Given the description of an element on the screen output the (x, y) to click on. 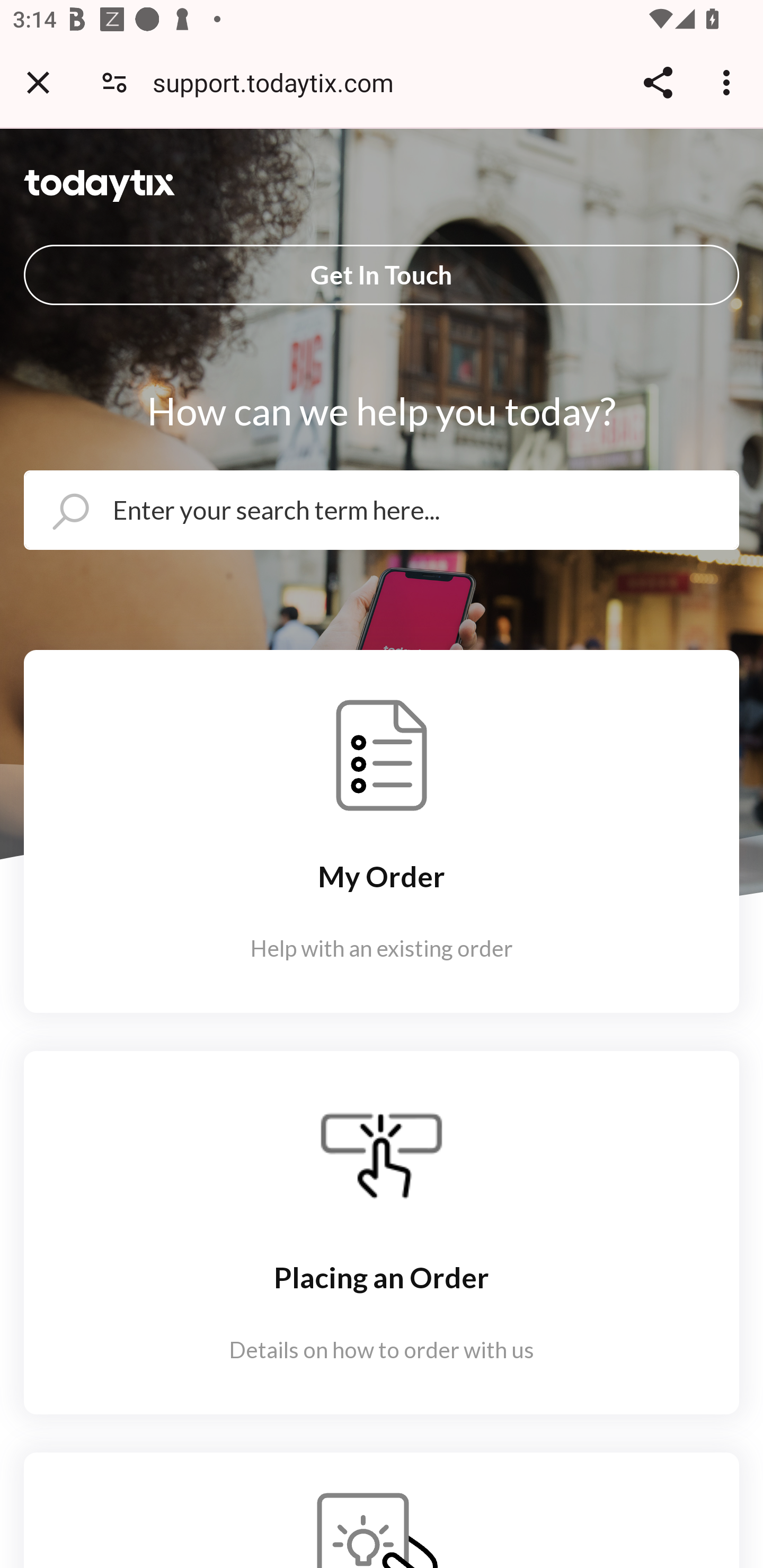
Close tab (38, 82)
Share (657, 82)
Customize and control Google Chrome (729, 82)
Connection is secure (114, 81)
support.todaytix.com (279, 81)
TodayTix White Logo (99, 185)
Get In Touch (381, 274)
